Given the description of an element on the screen output the (x, y) to click on. 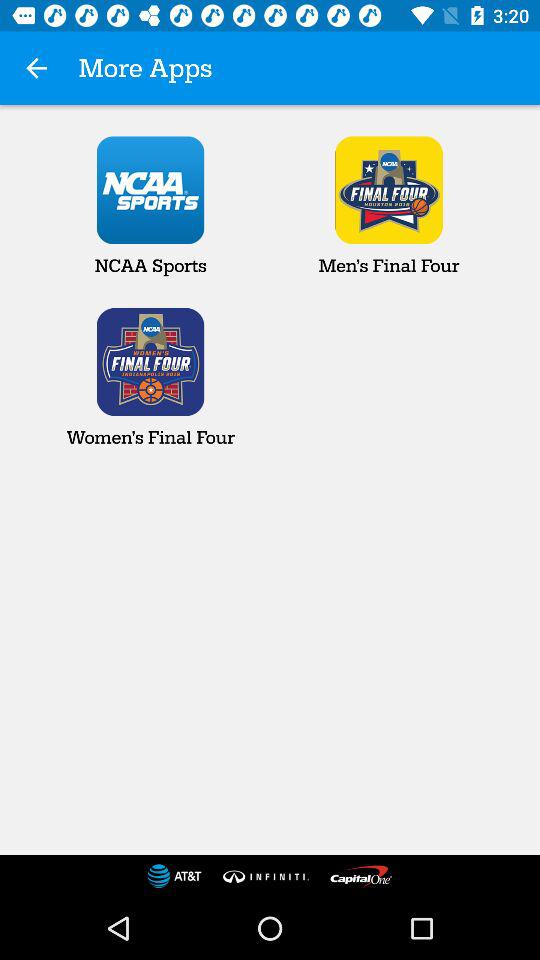
launch the icon to the left of the men s final (150, 206)
